Given the description of an element on the screen output the (x, y) to click on. 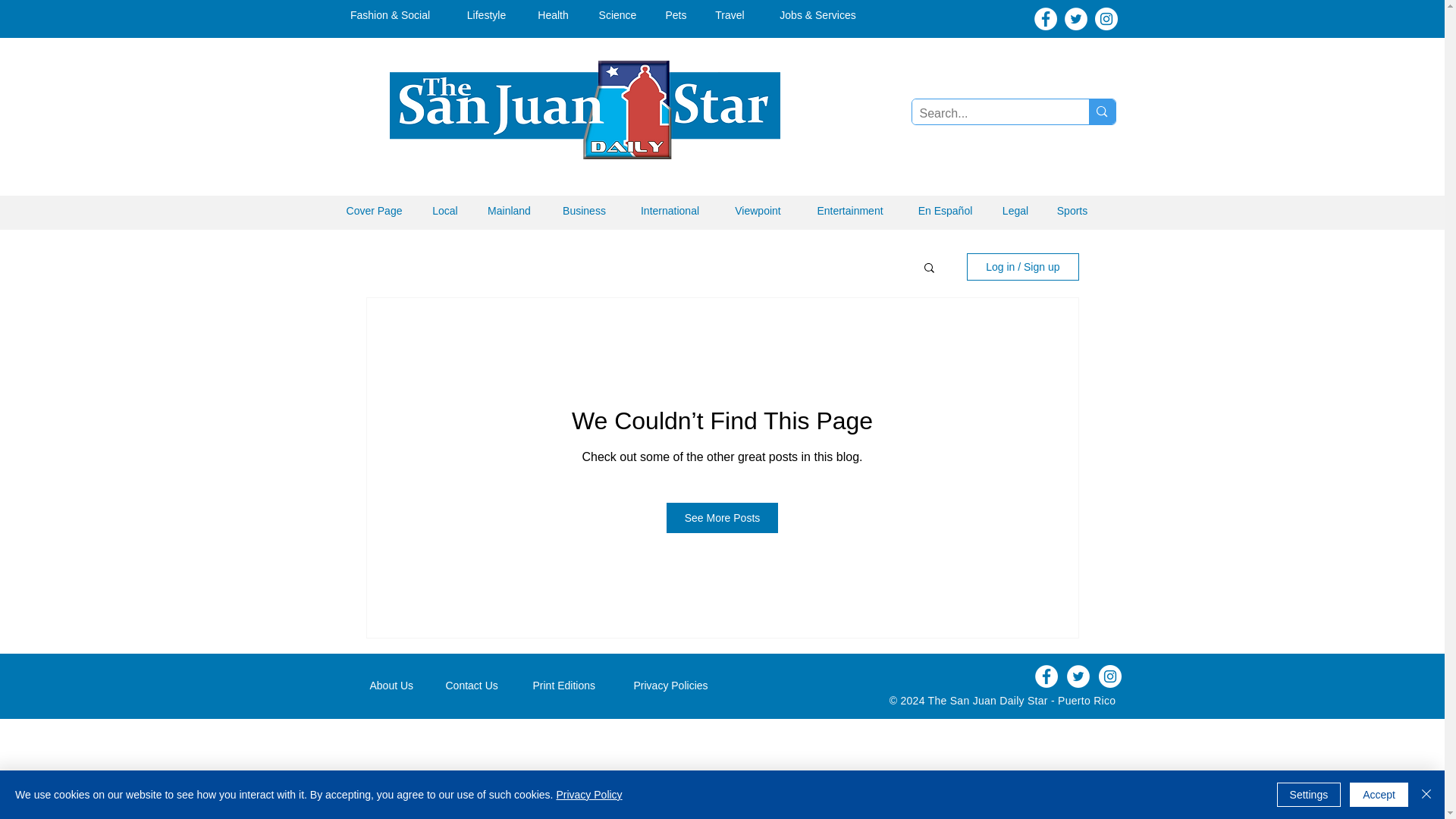
Contact Us (477, 685)
Entertainment (849, 210)
Business (583, 210)
Print Editions (572, 685)
Sports (1072, 210)
Privacy Policies (679, 685)
Mainland (508, 210)
Lifestyle (485, 15)
Health (552, 15)
Accept (1378, 794)
Settings (1308, 794)
Privacy Policy (588, 794)
About Us (395, 685)
International (669, 210)
Cover Page (374, 210)
